Given the description of an element on the screen output the (x, y) to click on. 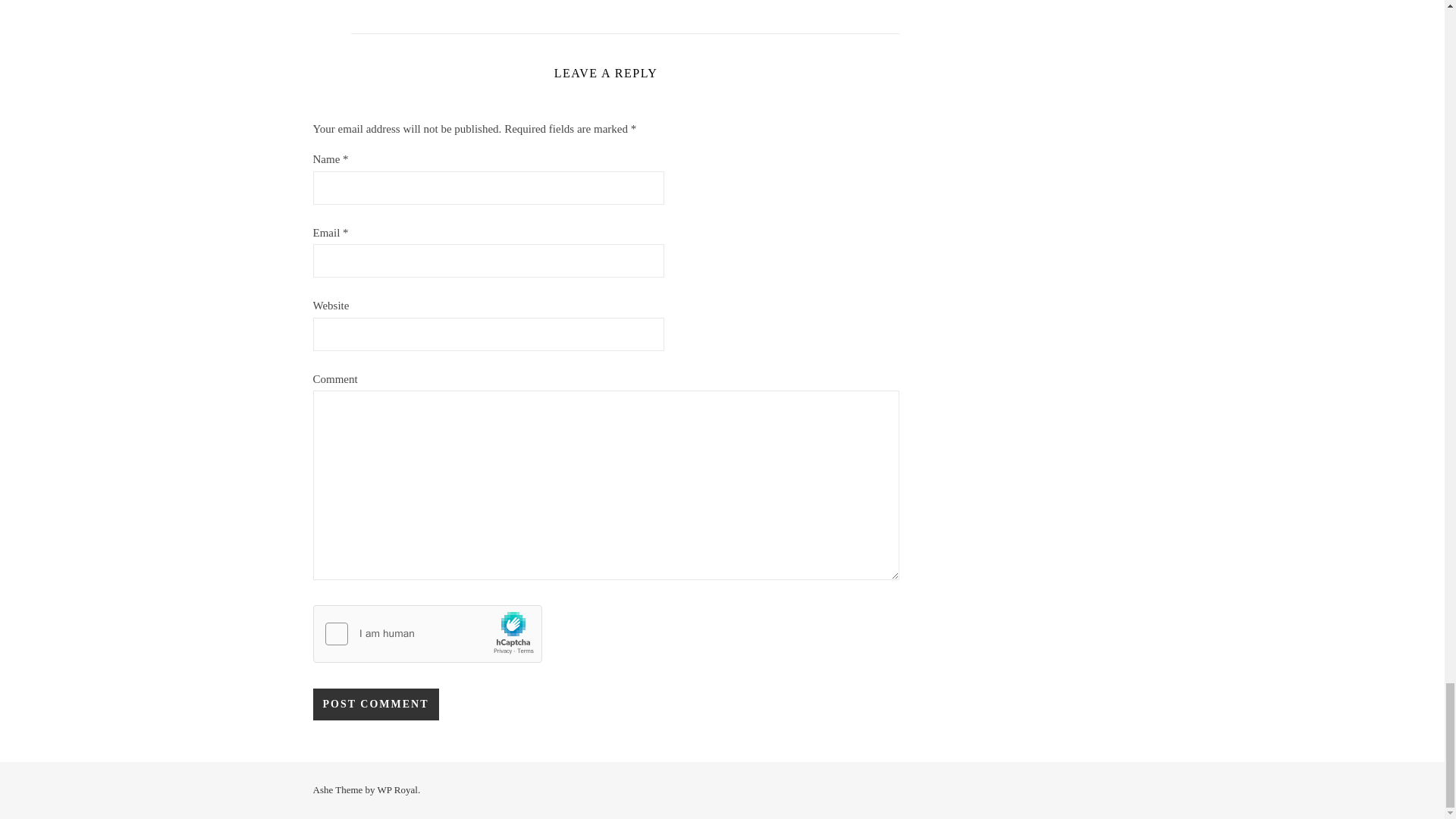
Widget containing checkbox for hCaptcha security challenge (427, 634)
Post Comment (375, 704)
